Given the description of an element on the screen output the (x, y) to click on. 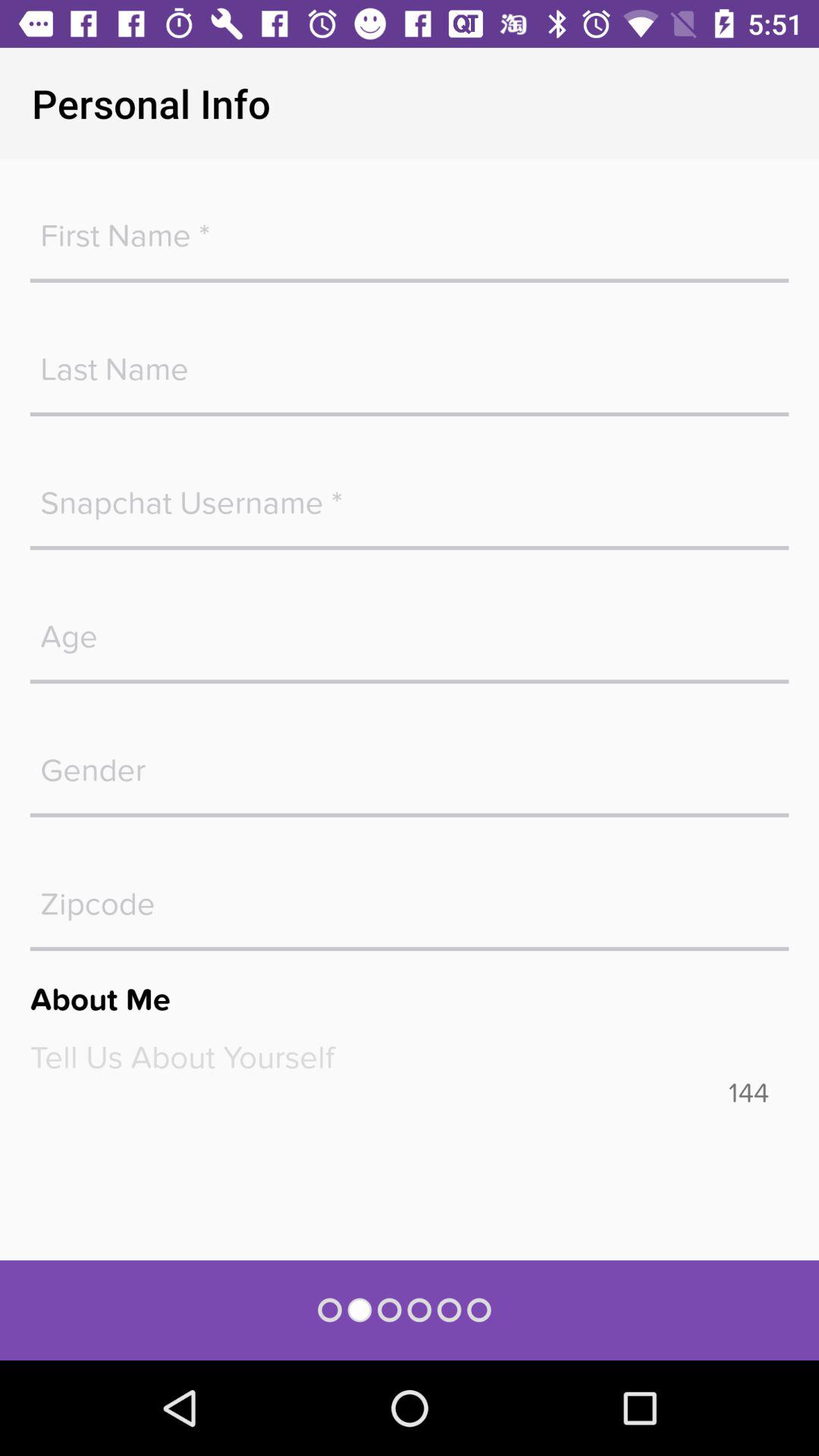
fill in the zipcode (409, 895)
